Given the description of an element on the screen output the (x, y) to click on. 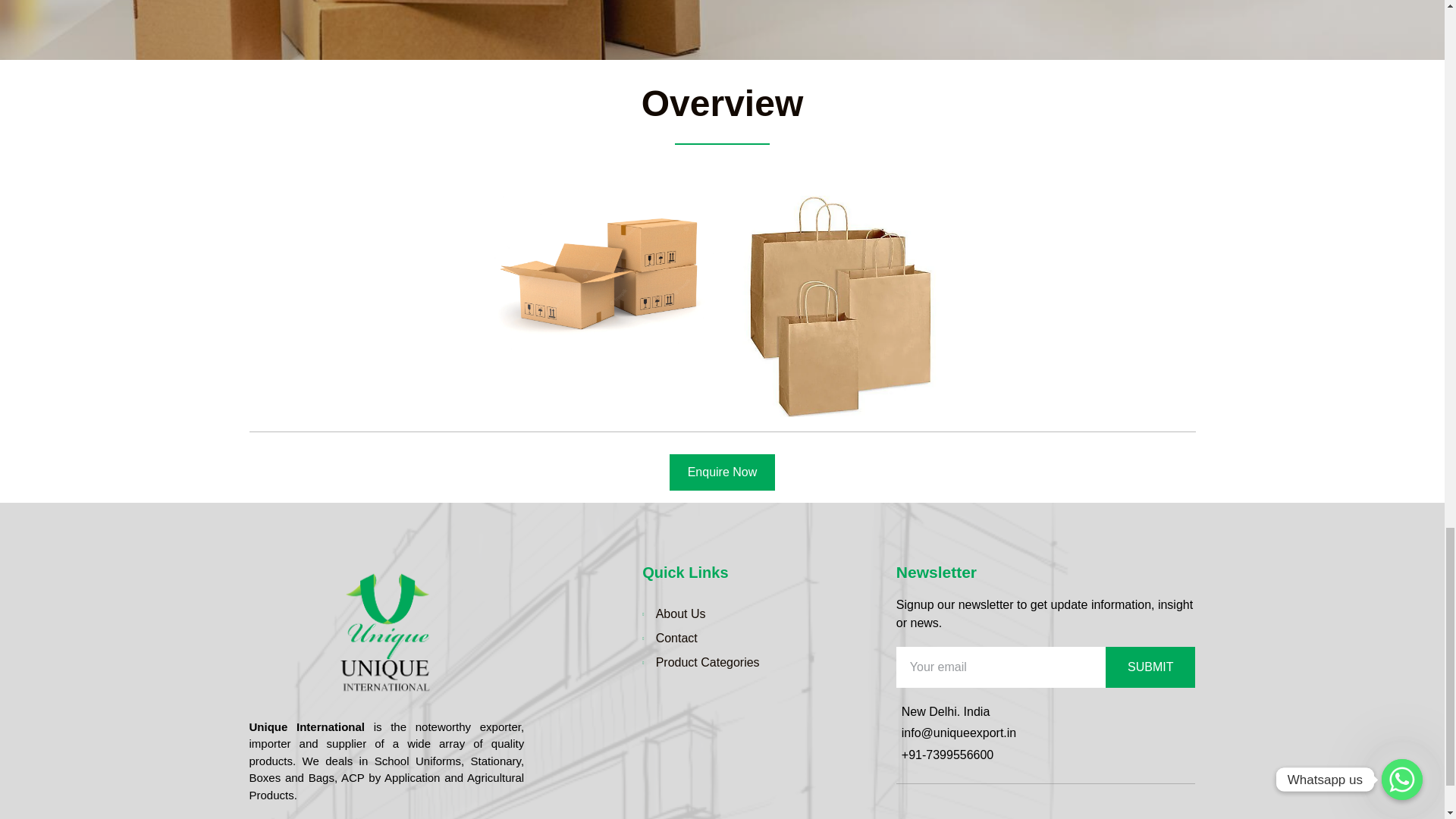
Enquire Now (722, 472)
